Given the description of an element on the screen output the (x, y) to click on. 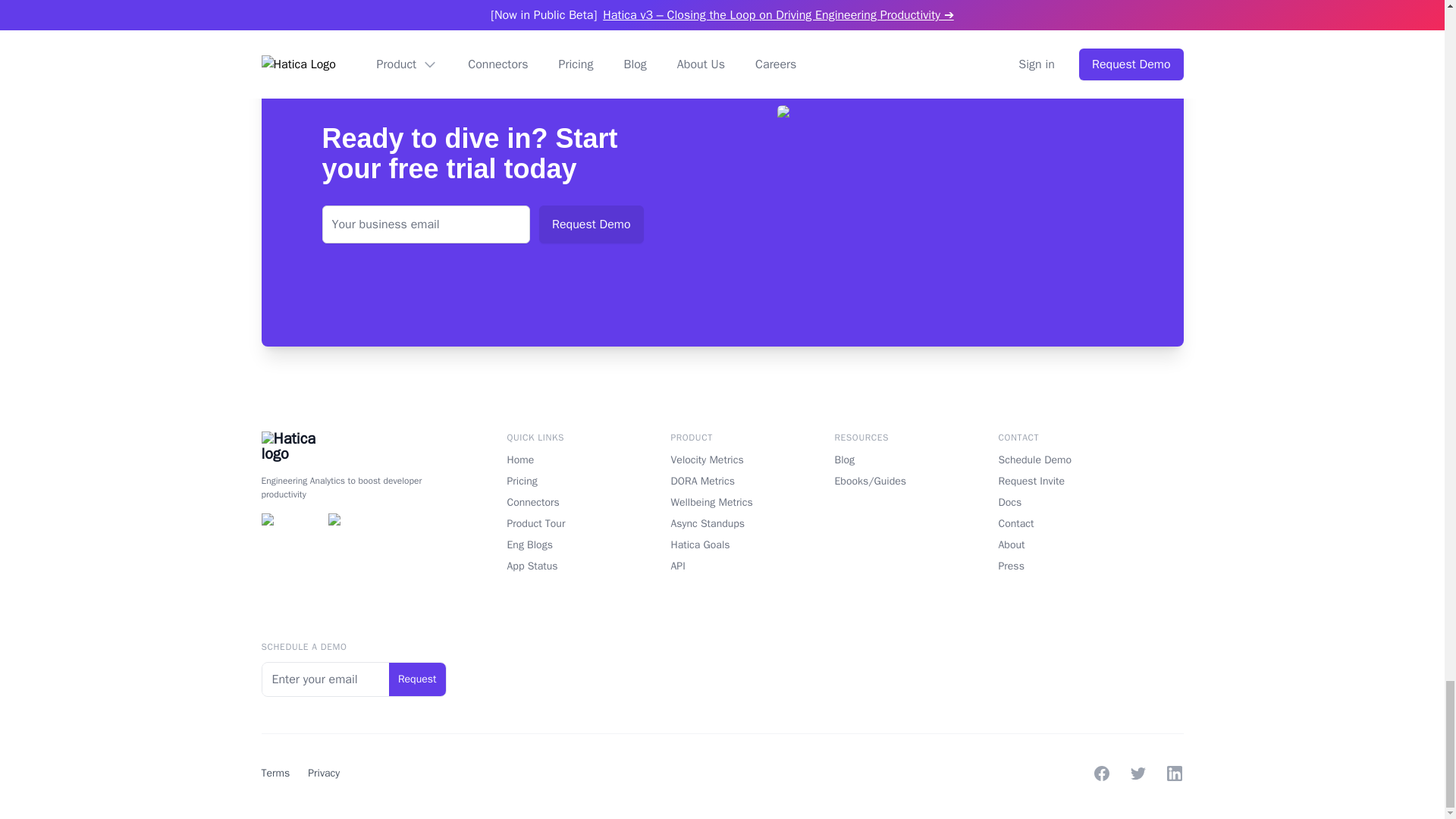
Wellbeing Metrics (721, 502)
Eng Blogs (558, 544)
Home (558, 459)
DORA Metrics (721, 481)
Velocity Metrics (721, 459)
Request Demo (590, 224)
App Status (558, 566)
Connectors (558, 502)
Product Tour (558, 523)
Pricing (558, 481)
